Given the description of an element on the screen output the (x, y) to click on. 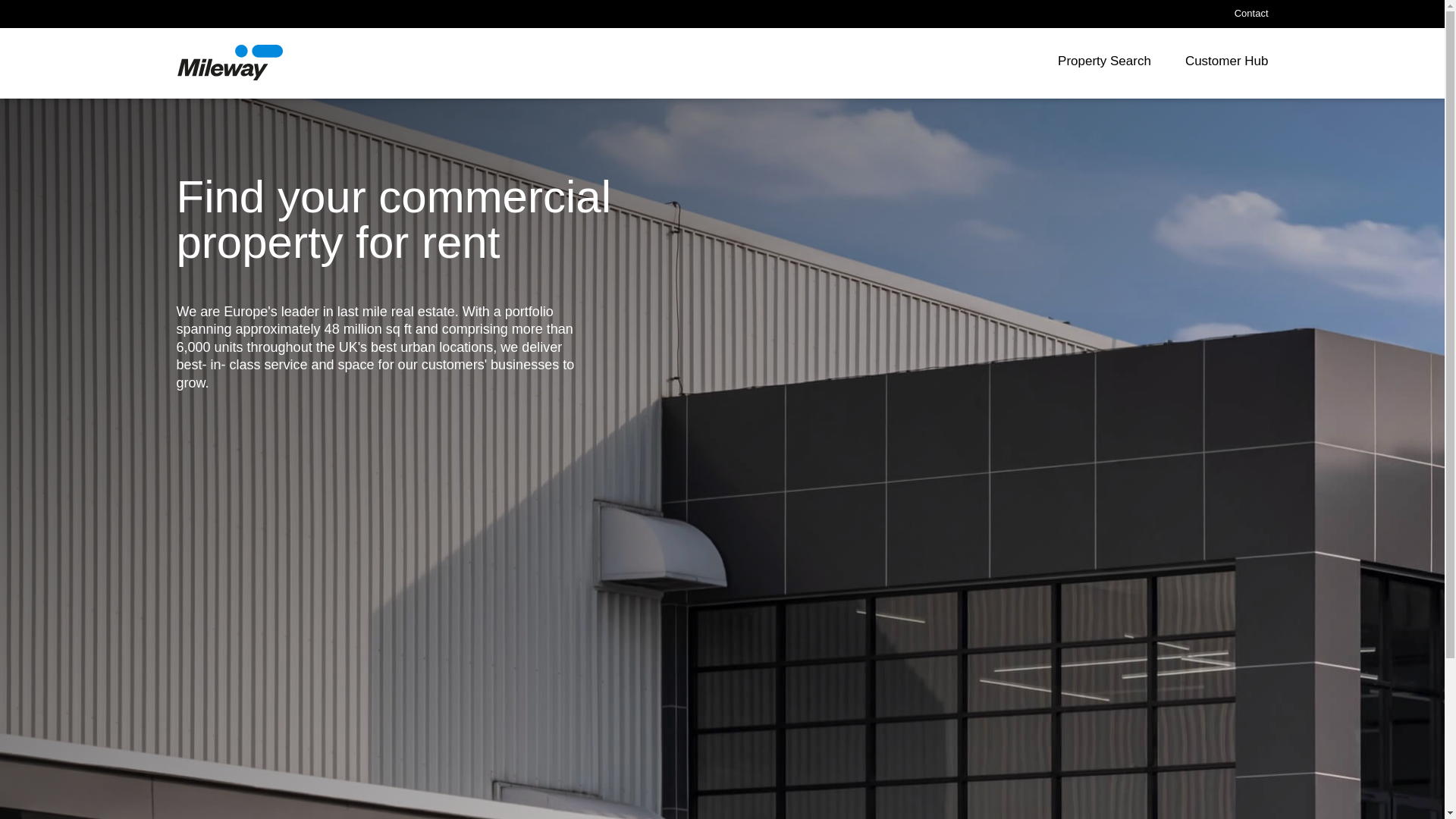
Customer Hub (1226, 63)
Contact (1251, 13)
Property Search (1104, 63)
